Given the description of an element on the screen output the (x, y) to click on. 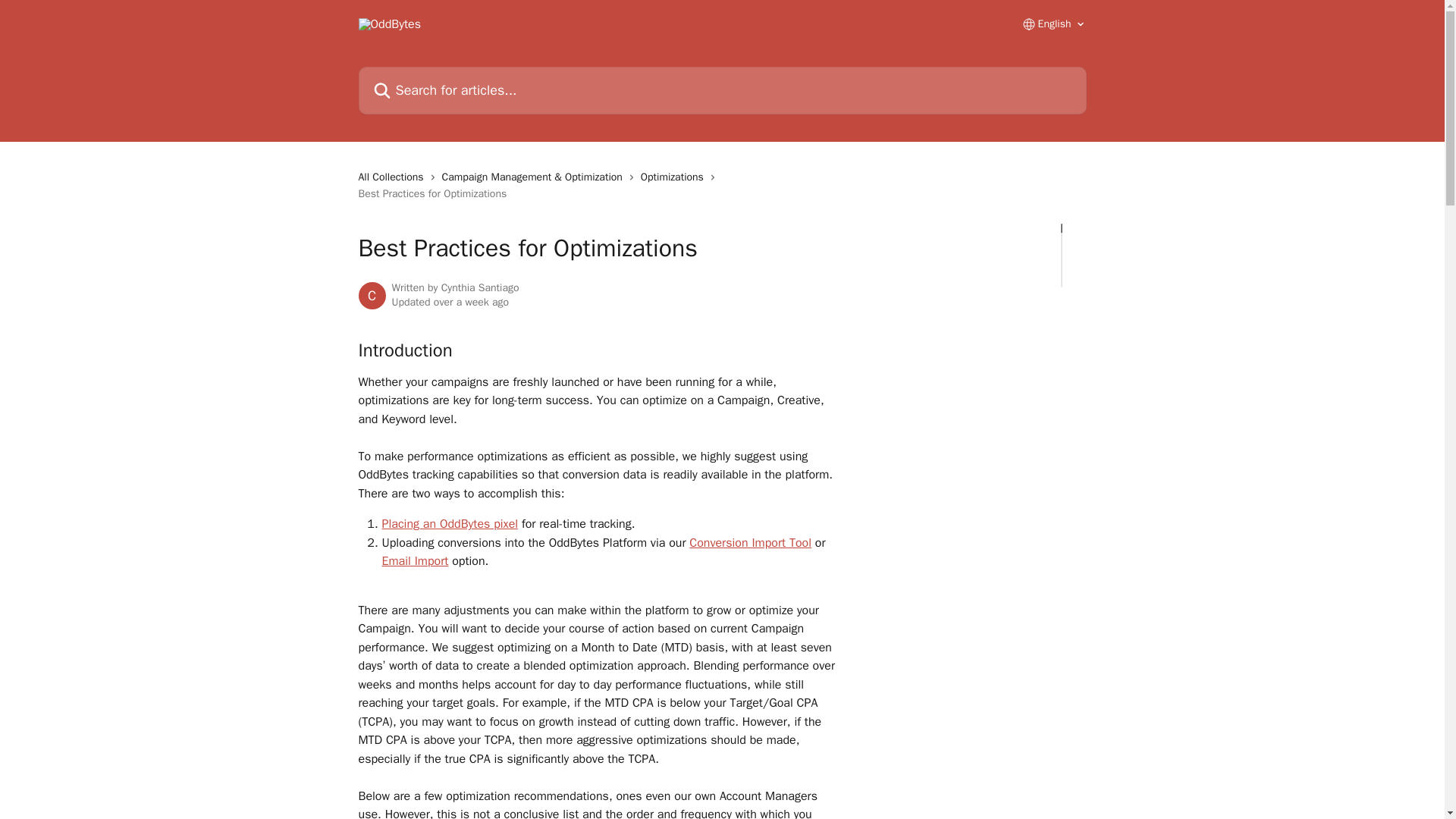
Conversion Import Tool (749, 542)
Optimizations (675, 176)
Placing an OddBytes pixel (449, 523)
All Collections (393, 176)
Email Import (414, 560)
